Given the description of an element on the screen output the (x, y) to click on. 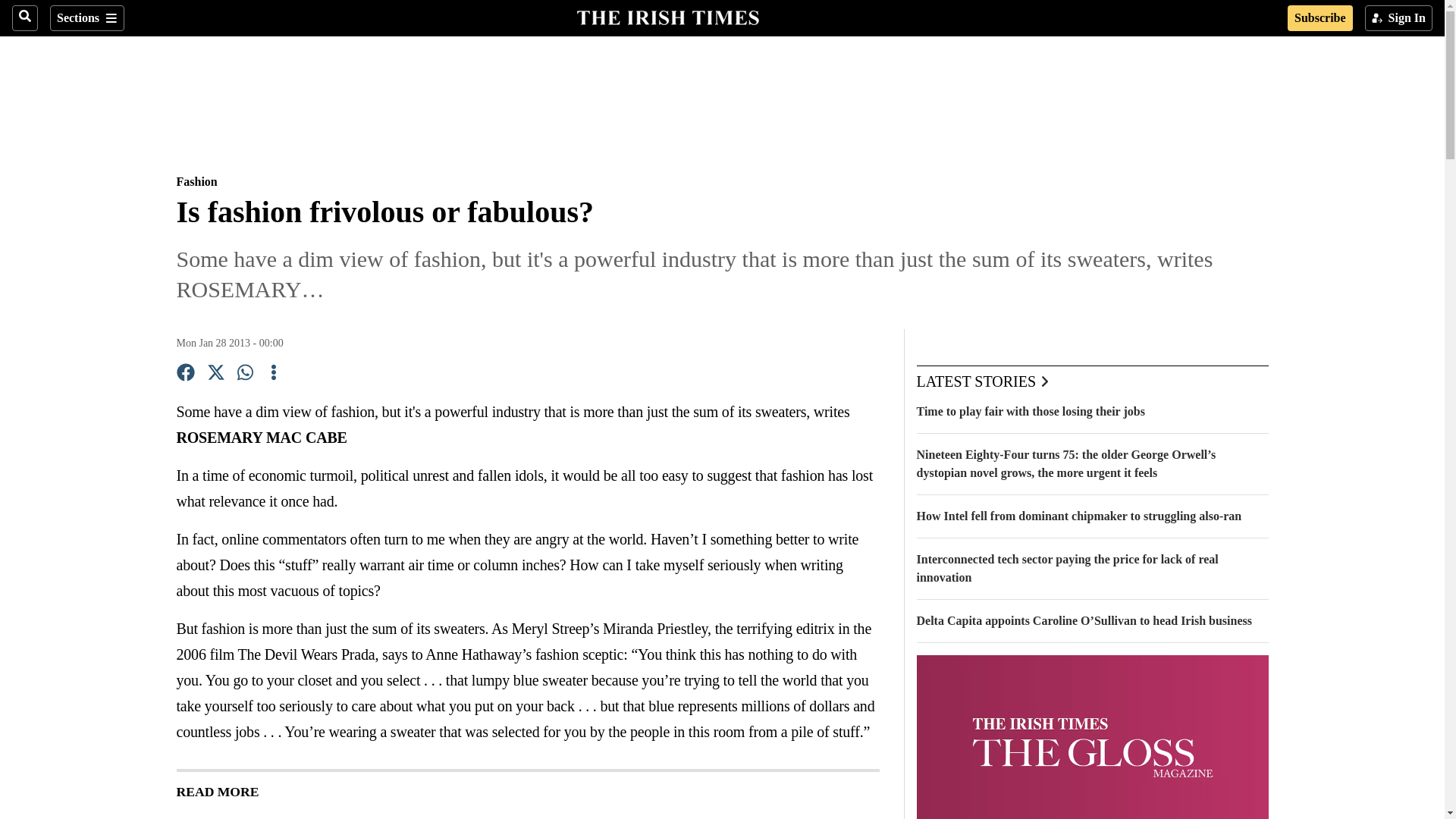
Sections (86, 17)
The Irish Times (667, 16)
Sign In (1398, 17)
Subscribe (1319, 17)
